Given the description of an element on the screen output the (x, y) to click on. 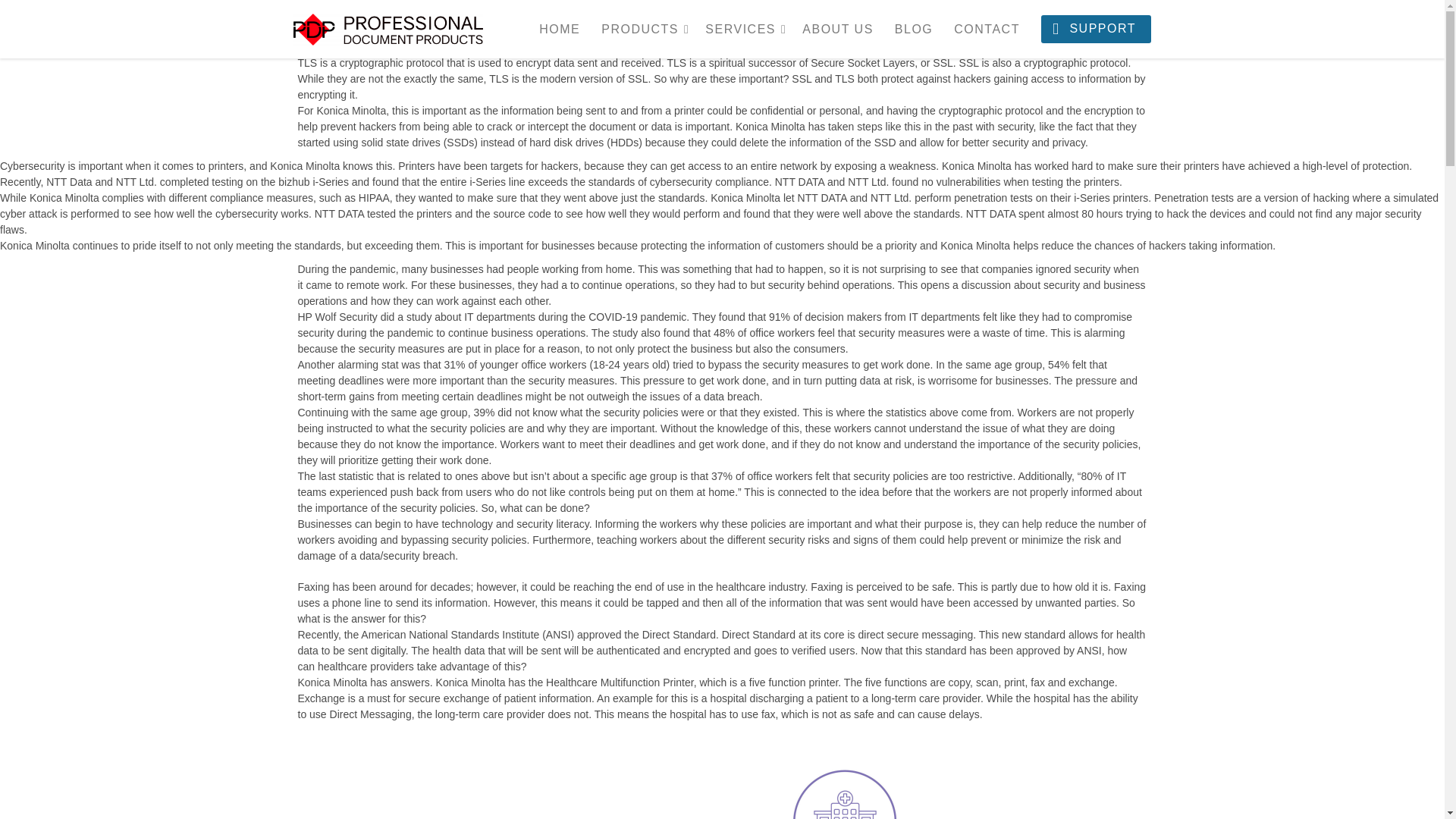
HOME (561, 28)
ABOUT US (840, 28)
SUPPORT (1096, 29)
PRODUCTS (644, 28)
SERVICES (745, 28)
BLOG (916, 28)
CONTACT (989, 28)
